Given the description of an element on the screen output the (x, y) to click on. 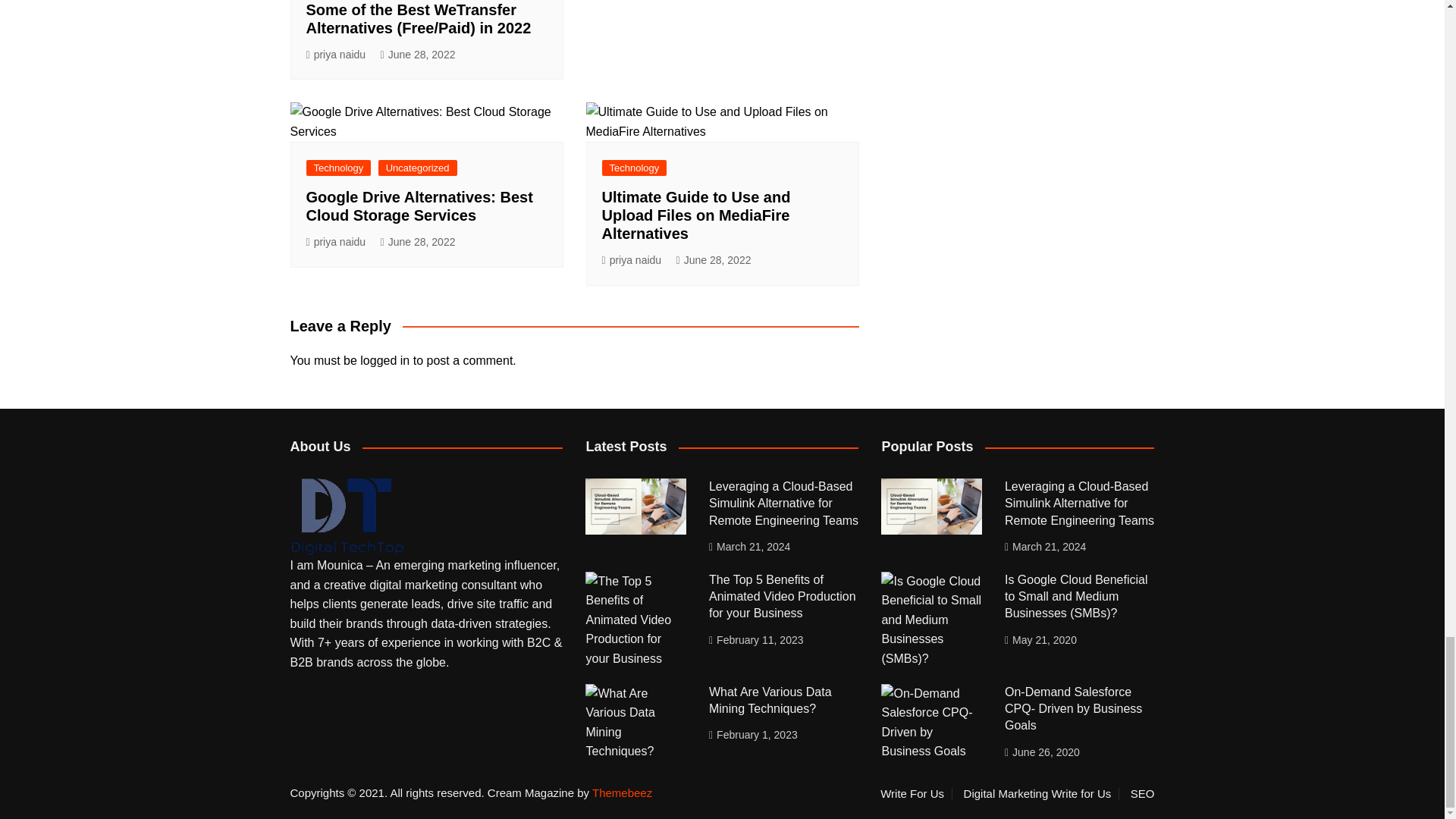
Digital TechTop (346, 515)
